Given the description of an element on the screen output the (x, y) to click on. 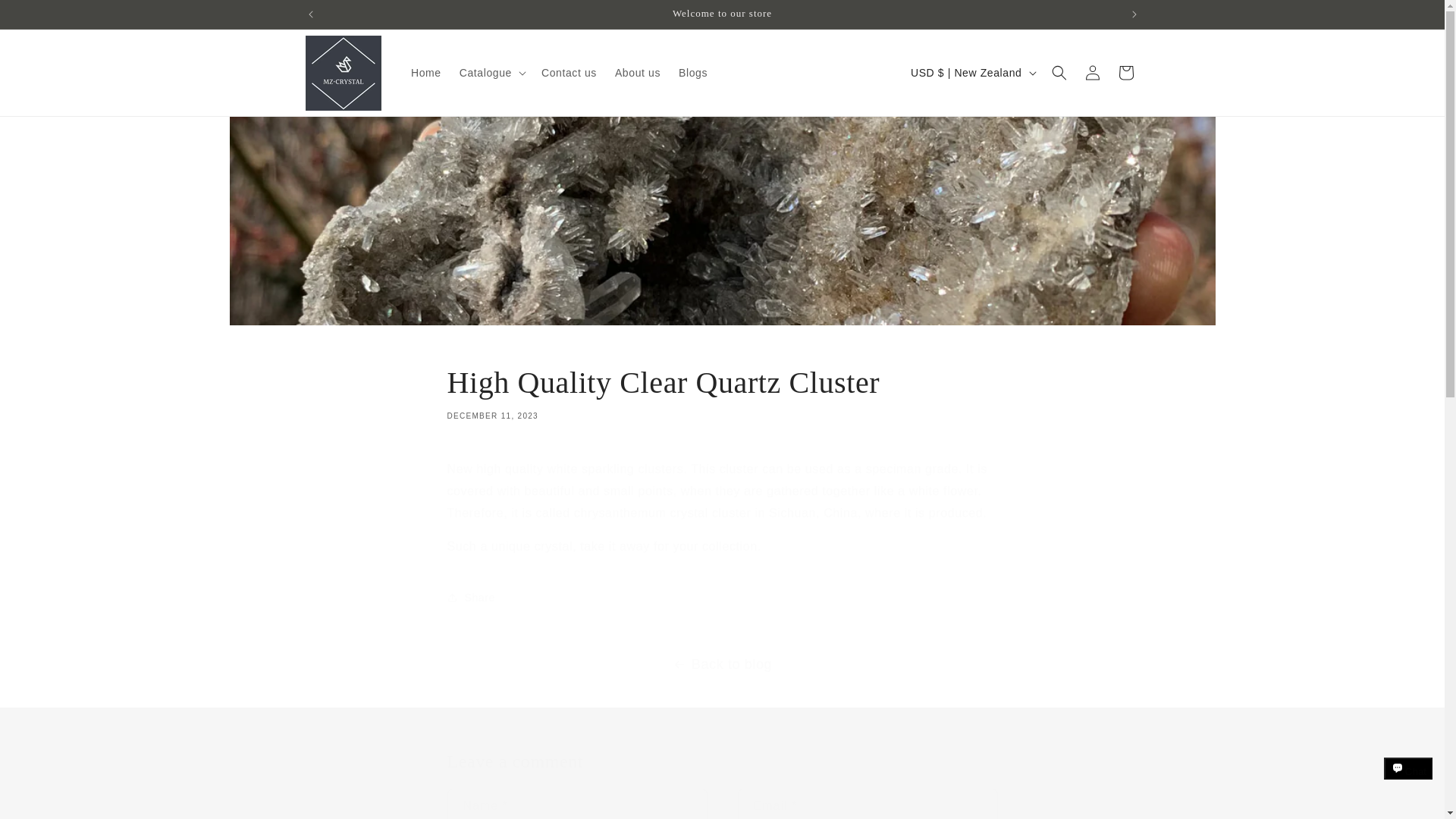
Home (425, 72)
Shopify online store chat (721, 391)
Share (1408, 781)
Skip to content (721, 597)
